Given the description of an element on the screen output the (x, y) to click on. 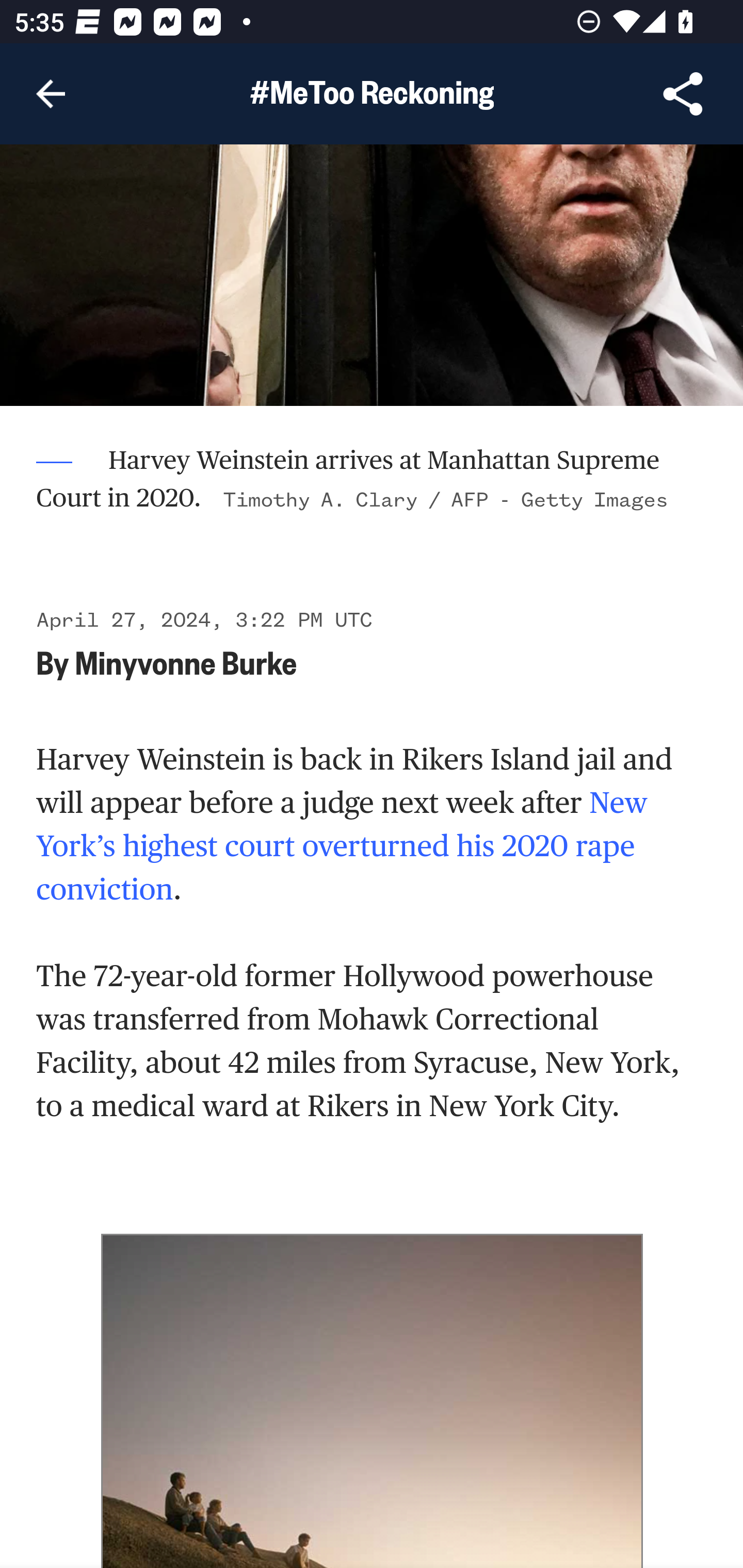
Navigate up (50, 93)
Share Article, button (683, 94)
Minyvonne Burke (185, 662)
